Given the description of an element on the screen output the (x, y) to click on. 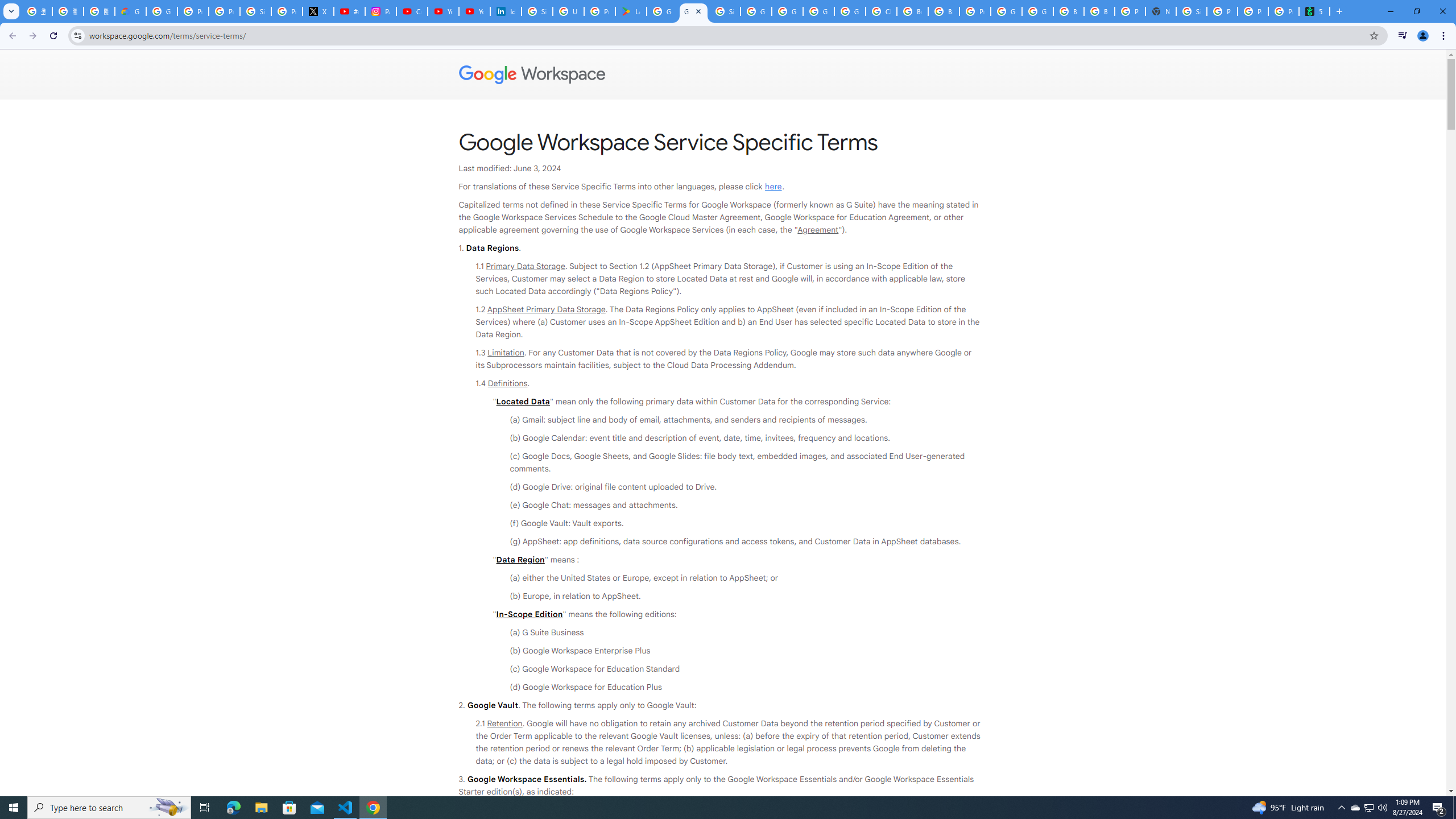
Browse Chrome as a guest - Computer - Google Chrome Help (912, 11)
New Tab (1160, 11)
Sign in - Google Accounts (255, 11)
Sign in - Google Accounts (536, 11)
